Given the description of an element on the screen output the (x, y) to click on. 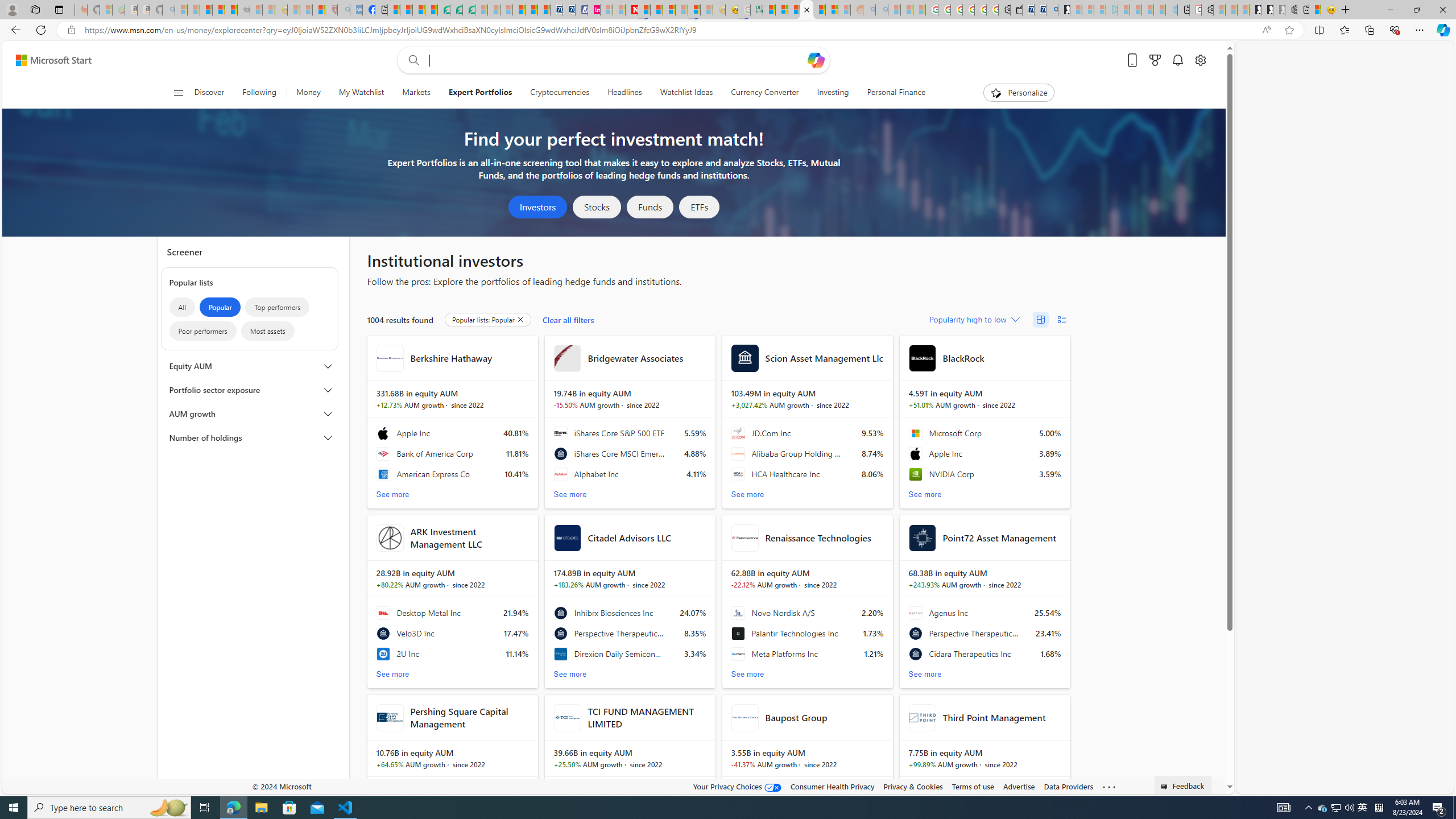
Most assets (267, 330)
Watchlist Ideas (686, 92)
Bing Real Estate - Home sales and rental listings (1051, 9)
Popularity high to low (973, 319)
Terms of Use Agreement (456, 9)
